Given the description of an element on the screen output the (x, y) to click on. 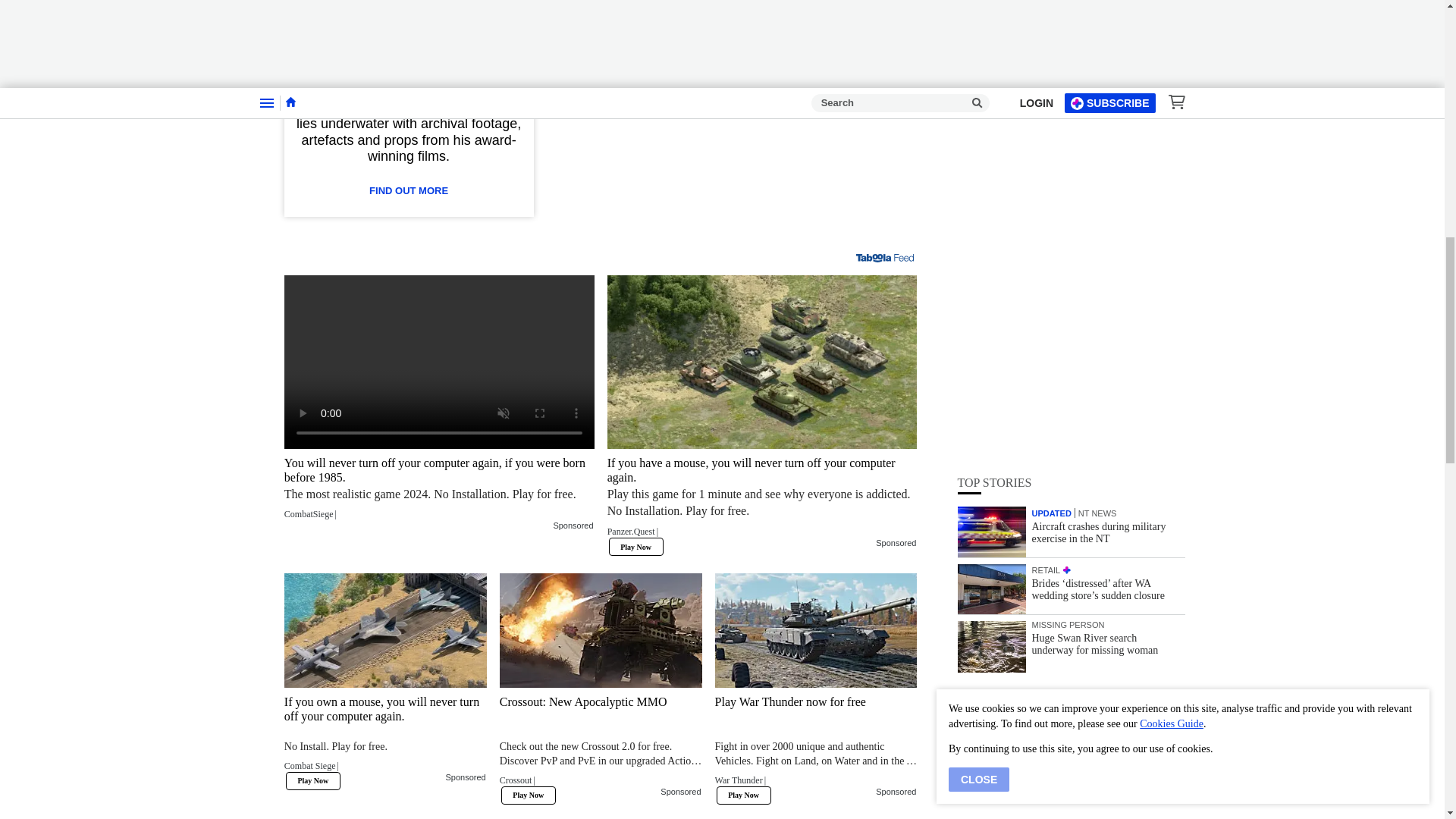
Play War Thunder now for free (815, 745)
Crossout: New Apocalyptic MMO (600, 745)
PREMIUM (1066, 168)
Premium (739, 30)
Premium (777, 6)
